Given the description of an element on the screen output the (x, y) to click on. 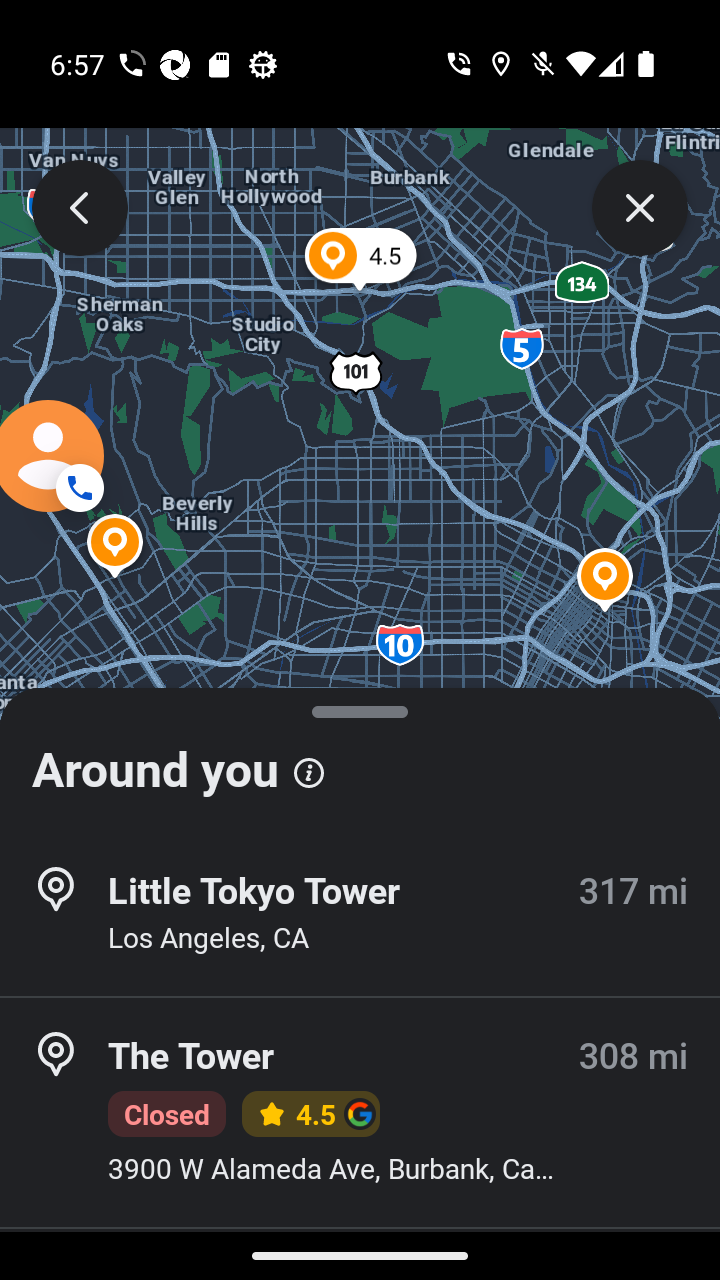
Around you (360, 760)
Little Tokyo Tower 317 mi Los Angeles, CA (360, 914)
